Given the description of an element on the screen output the (x, y) to click on. 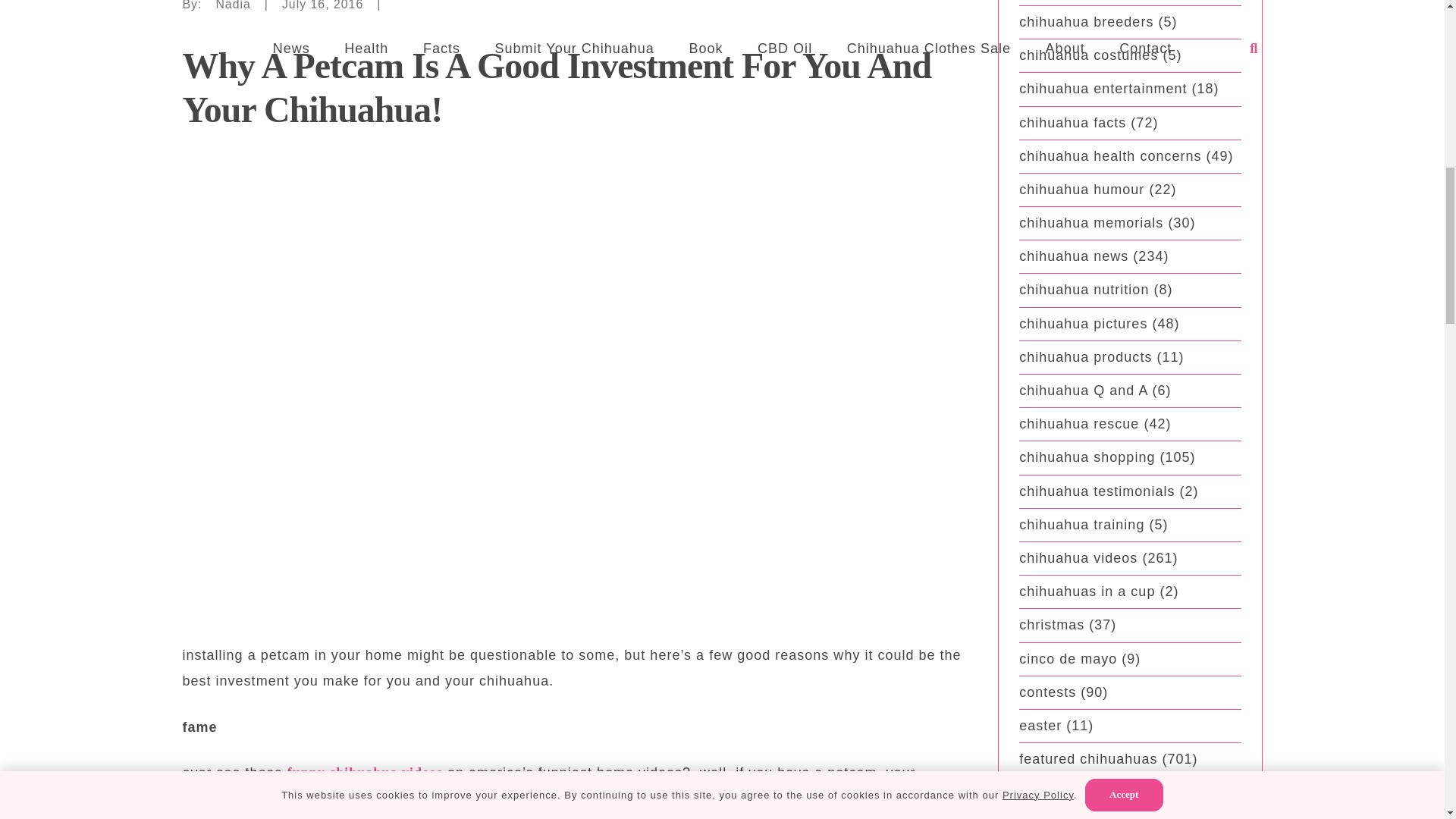
Nadia (232, 8)
funny chihuahua videos (364, 772)
chihuahua costumes (1088, 55)
chihuahua entertainment (1102, 88)
chihuahua breeders (1086, 21)
